Given the description of an element on the screen output the (x, y) to click on. 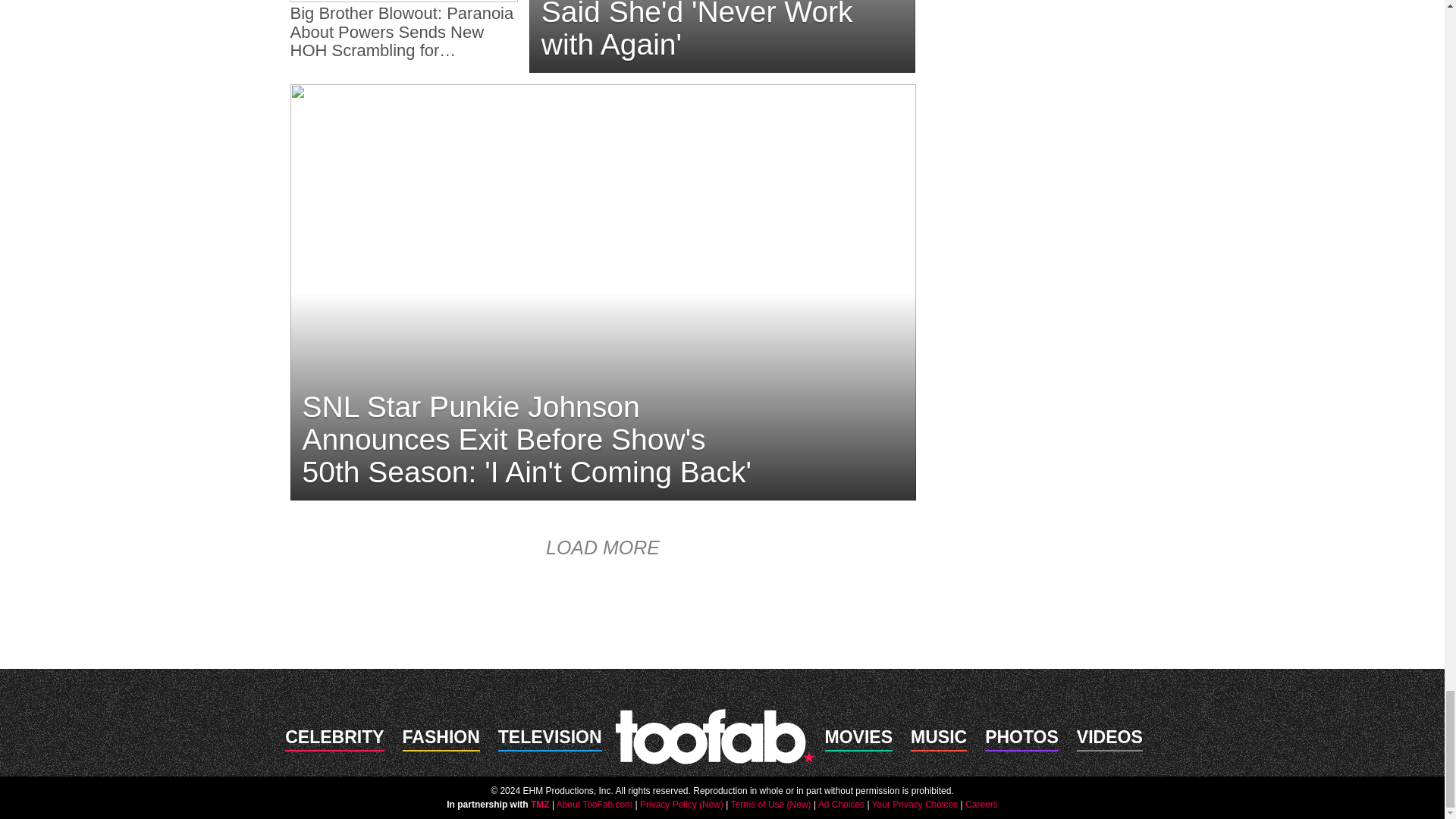
toofab (714, 736)
